Given the description of an element on the screen output the (x, y) to click on. 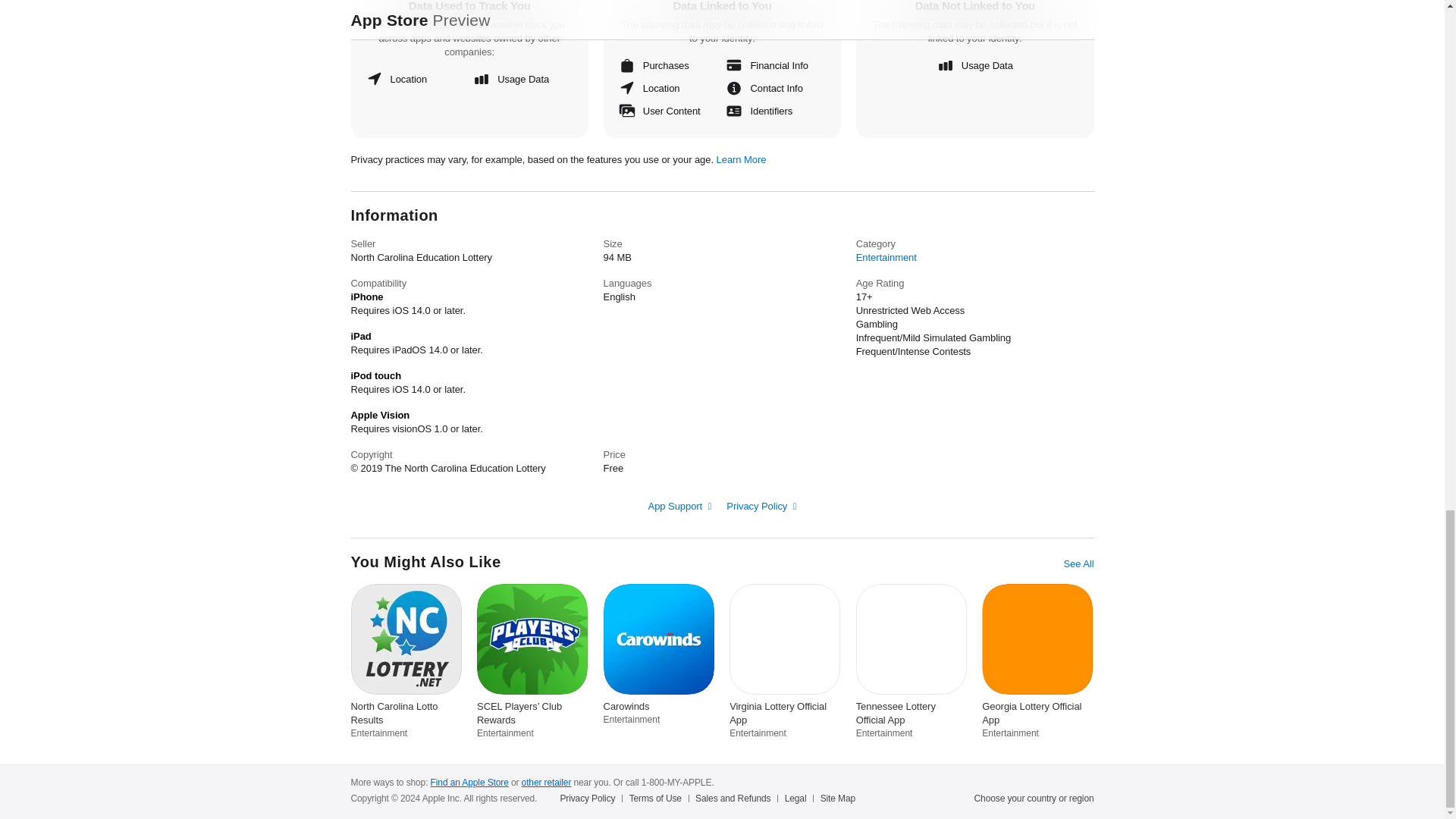
Entertainment (886, 256)
Learn More (741, 159)
App Support (679, 505)
Privacy Policy (761, 505)
Choose your country or region (1034, 798)
See All (1077, 563)
